Given the description of an element on the screen output the (x, y) to click on. 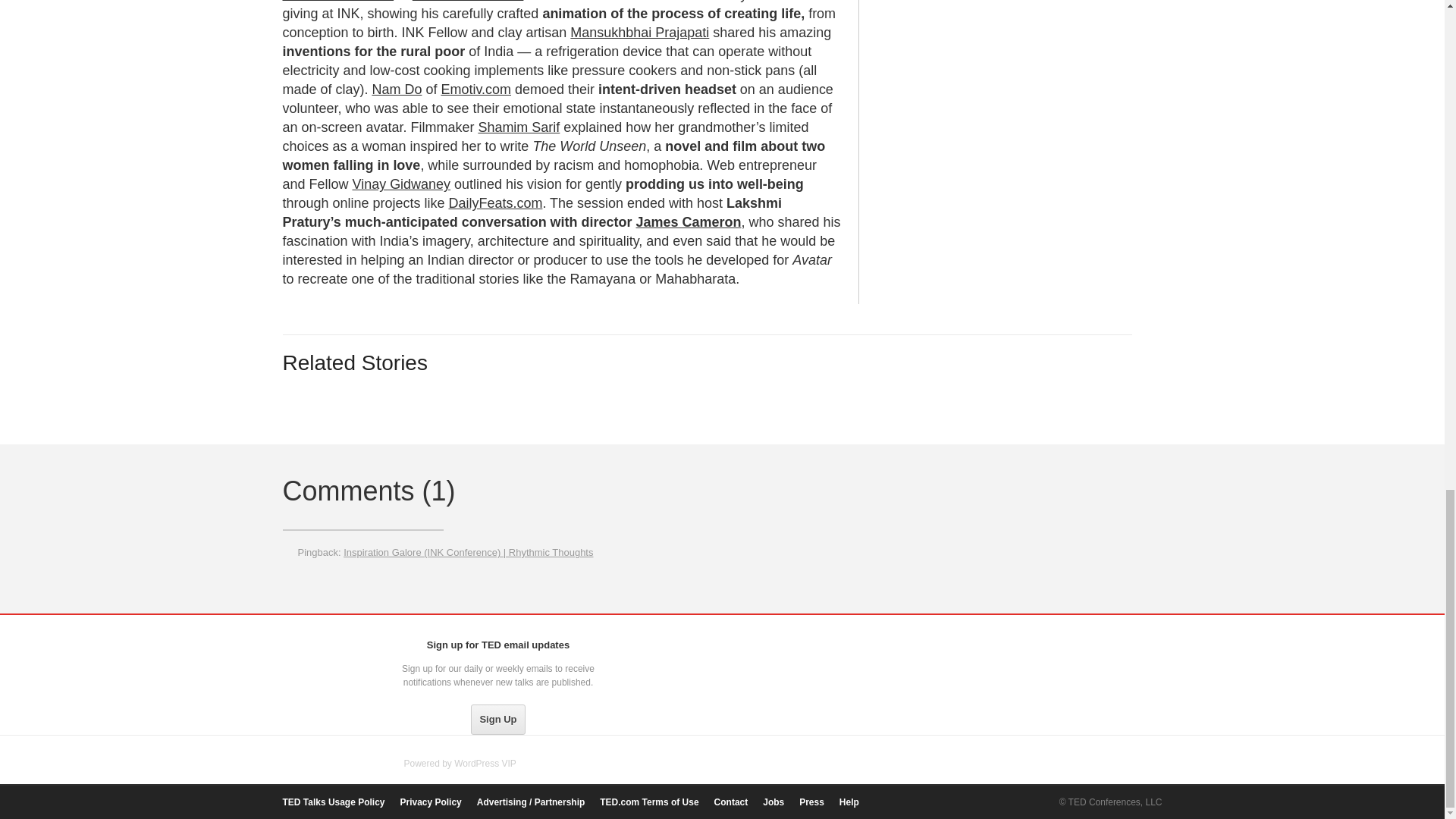
Vinay Gidwaney (400, 183)
Shamim Sarif (518, 127)
James Cameron (688, 222)
TED (313, 649)
DailyFeats.com (494, 202)
Mansukhbhai Prajapati (639, 32)
Sign Up (497, 719)
Nam Do (396, 89)
TED.com (313, 649)
Sign Up (497, 719)
